Given the description of an element on the screen output the (x, y) to click on. 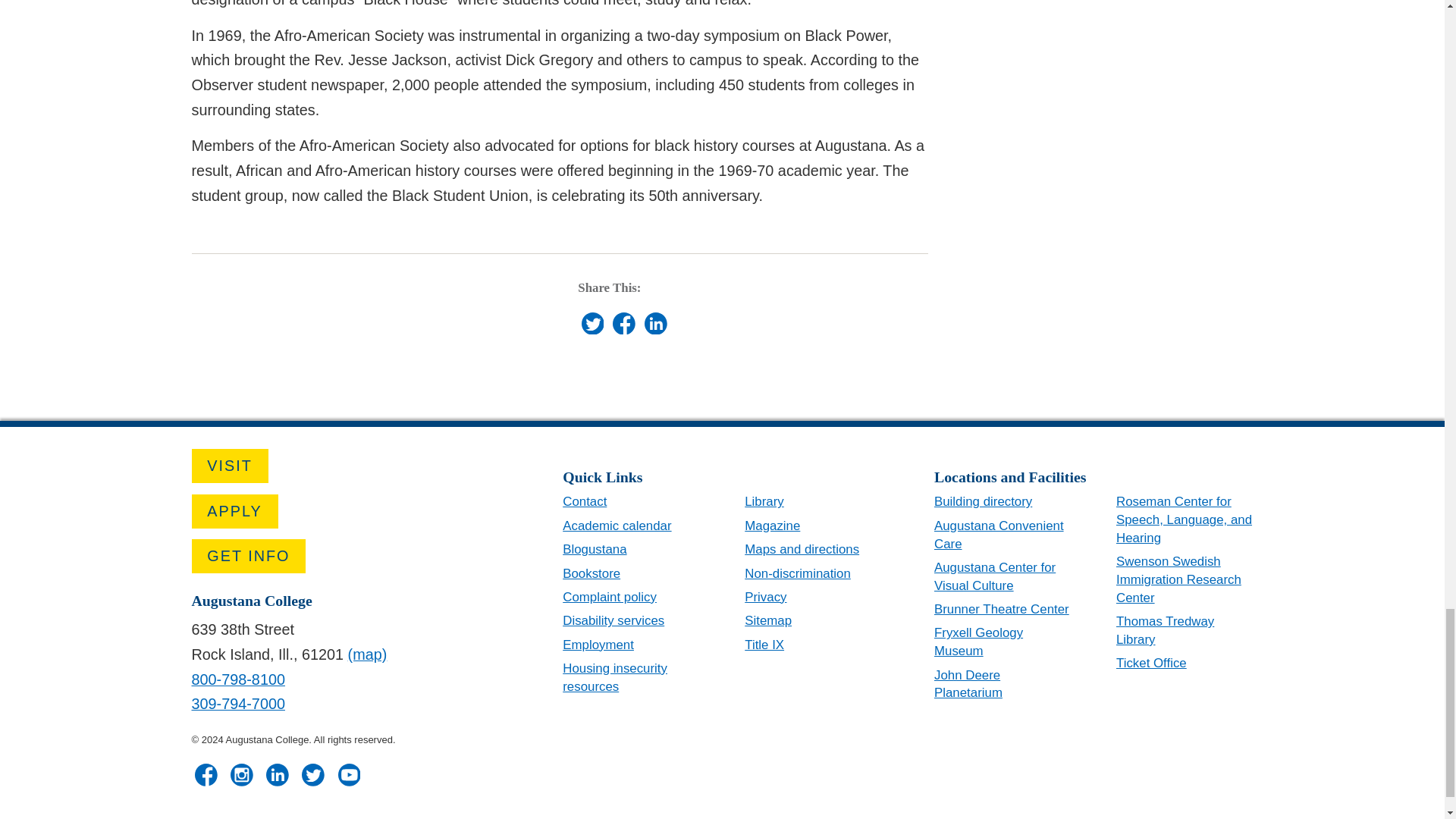
YouTube Round icon with YouTube logo (349, 774)
LinkedIn Round Icon with LinkedIn logo (277, 774)
Instagram Round icon with Instagram Logo (241, 774)
Twitter Round icon with Twitter bird. (312, 774)
LinkedIn Round Icon with LinkedIn logo (655, 323)
Facebook Icon Circle with Facebook's F (205, 774)
Facebook Icon Circle with Facebook's F (623, 323)
Twitter Round icon with Twitter bird. (592, 323)
